Given the description of an element on the screen output the (x, y) to click on. 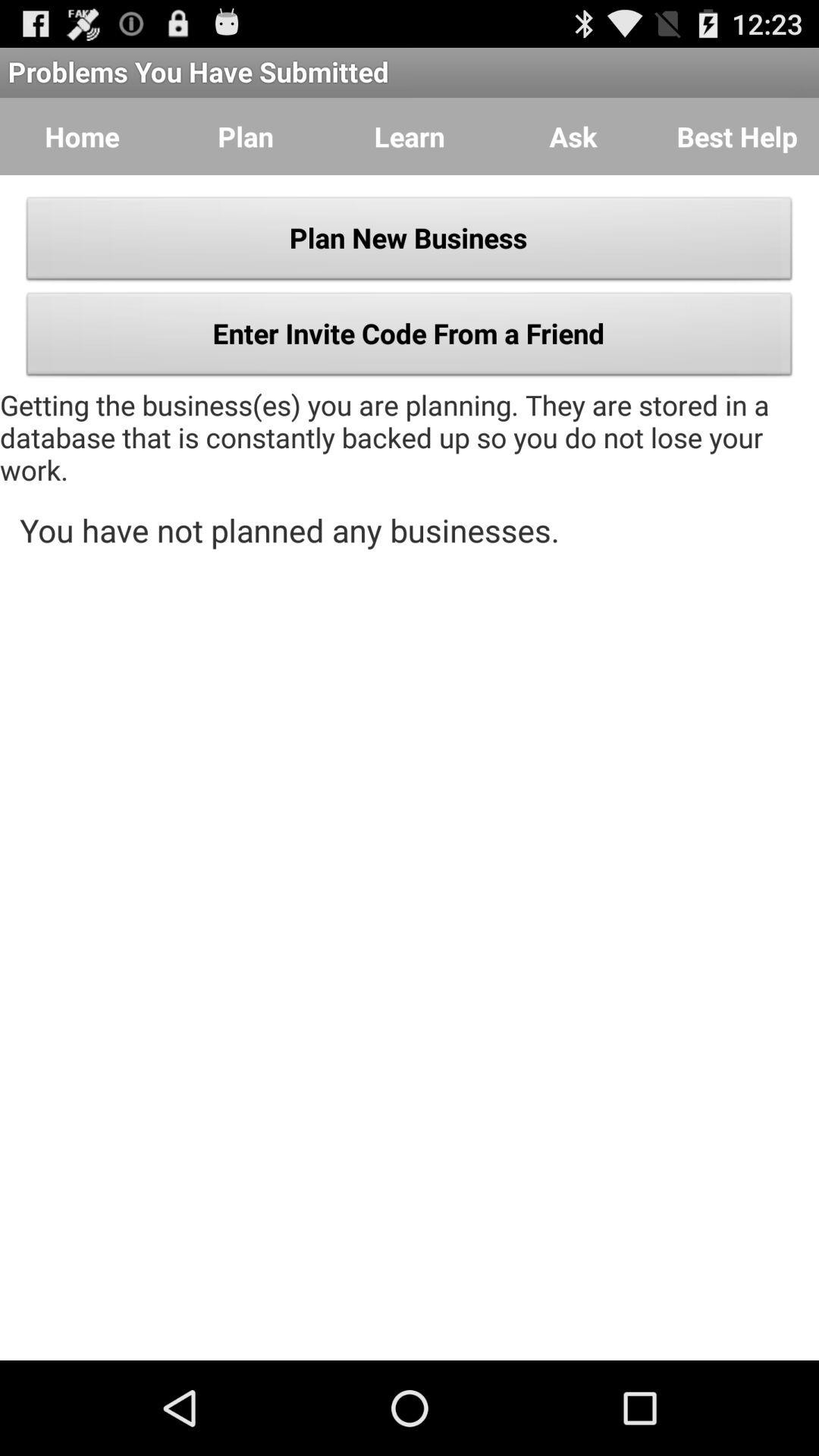
click icon to the right of ask (737, 136)
